Given the description of an element on the screen output the (x, y) to click on. 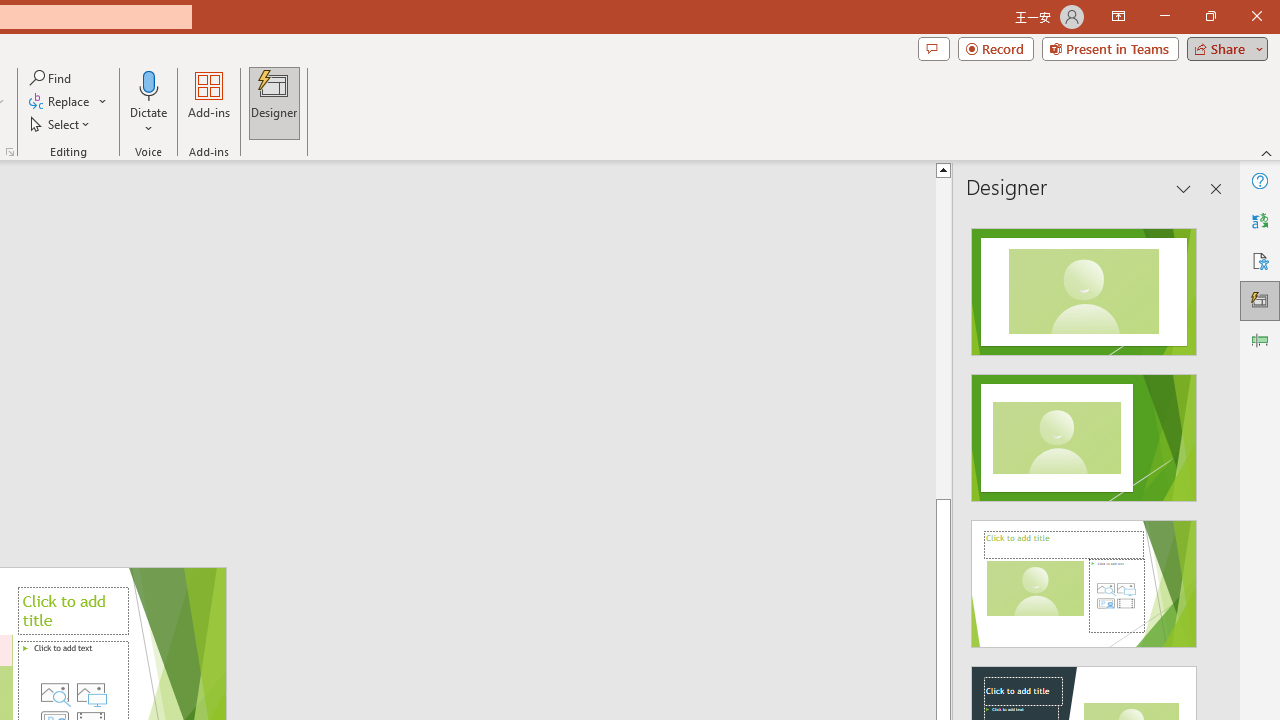
Animation Pane (1260, 340)
